Given the description of an element on the screen output the (x, y) to click on. 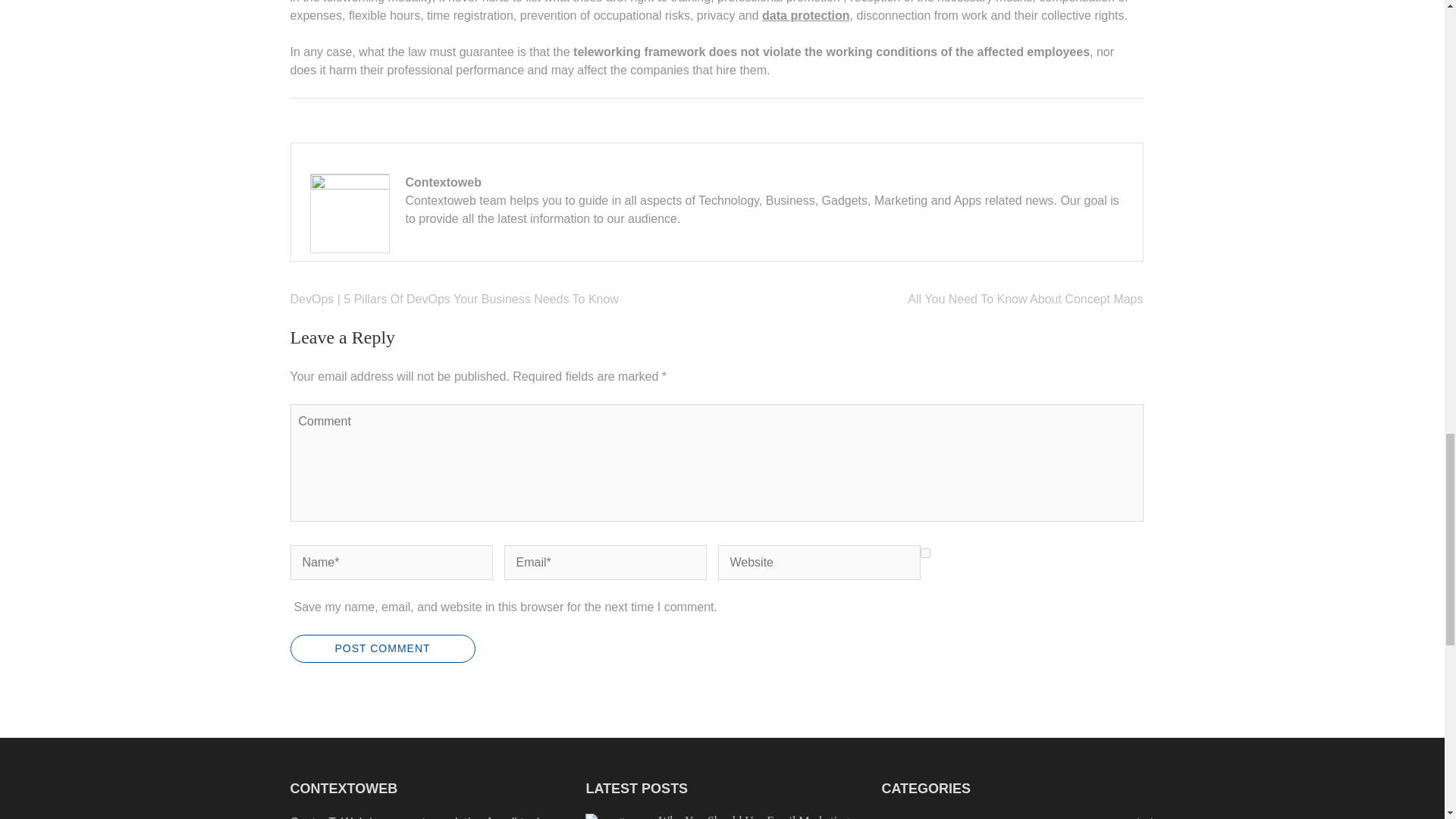
yes (925, 552)
Post Comment (381, 648)
data protection (805, 15)
Post Comment (381, 648)
Why You Should Use Email Marketing (753, 816)
All You Need To Know About Concept Maps (1024, 298)
